Given the description of an element on the screen output the (x, y) to click on. 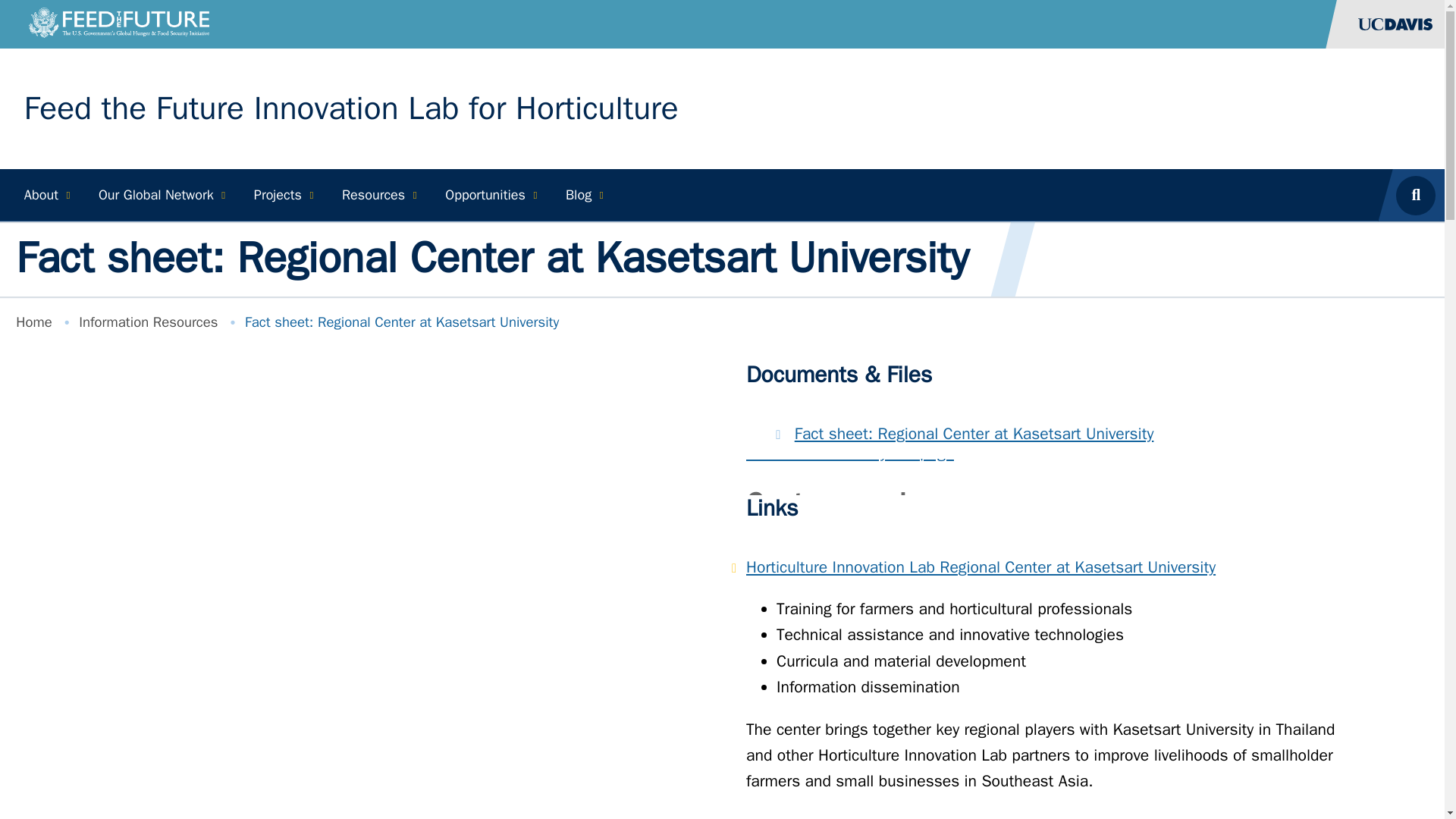
Resources (376, 194)
Feed the Future Innovation Lab for Horticulture (351, 107)
Open Search (1419, 194)
Projects (281, 194)
Our Global Network (160, 194)
Projects (281, 194)
Home (351, 107)
About (45, 194)
About the Innovation Lab for Horticulture (45, 194)
Global Network (160, 194)
